Given the description of an element on the screen output the (x, y) to click on. 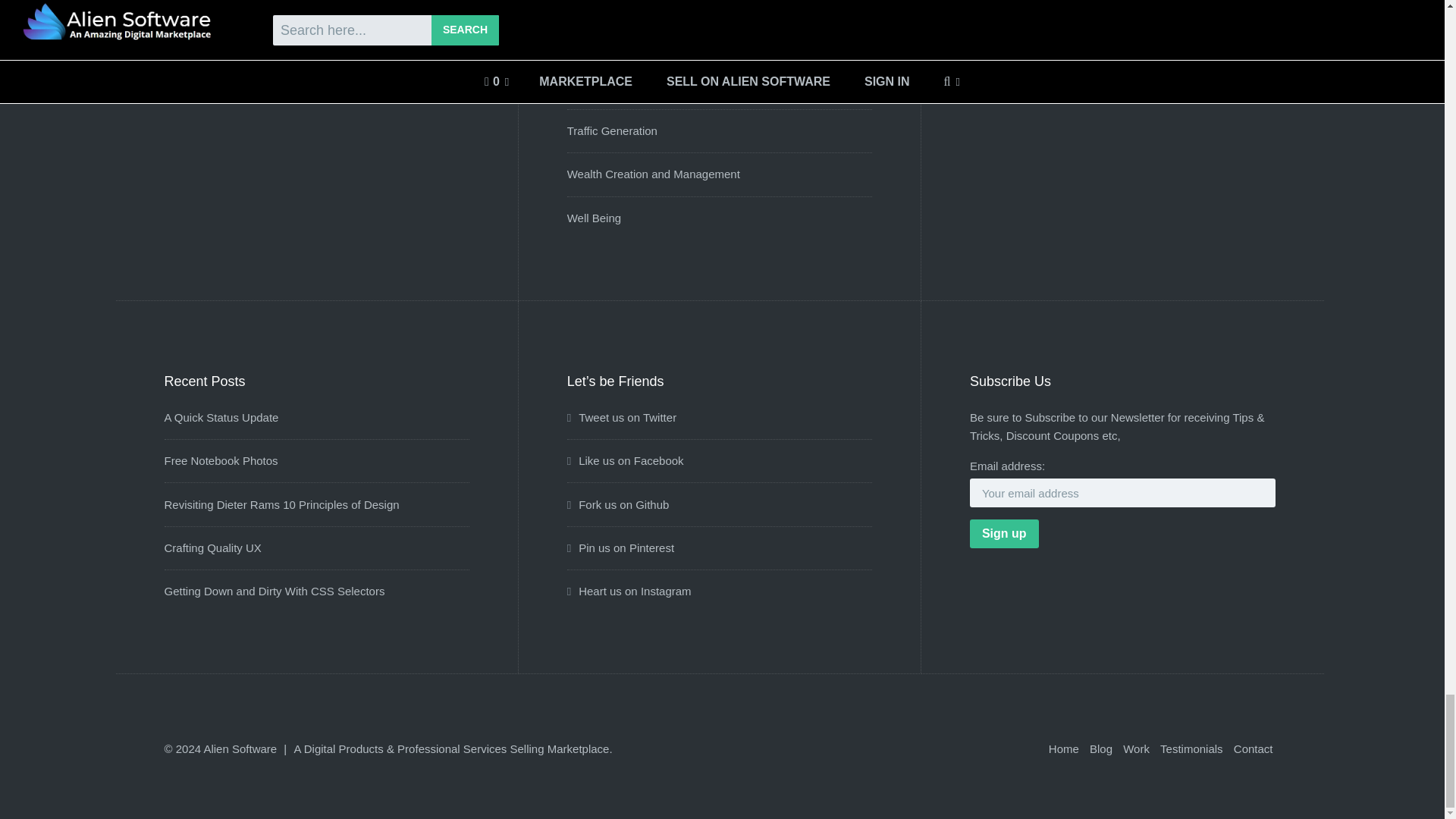
Sign up (1004, 533)
